Given the description of an element on the screen output the (x, y) to click on. 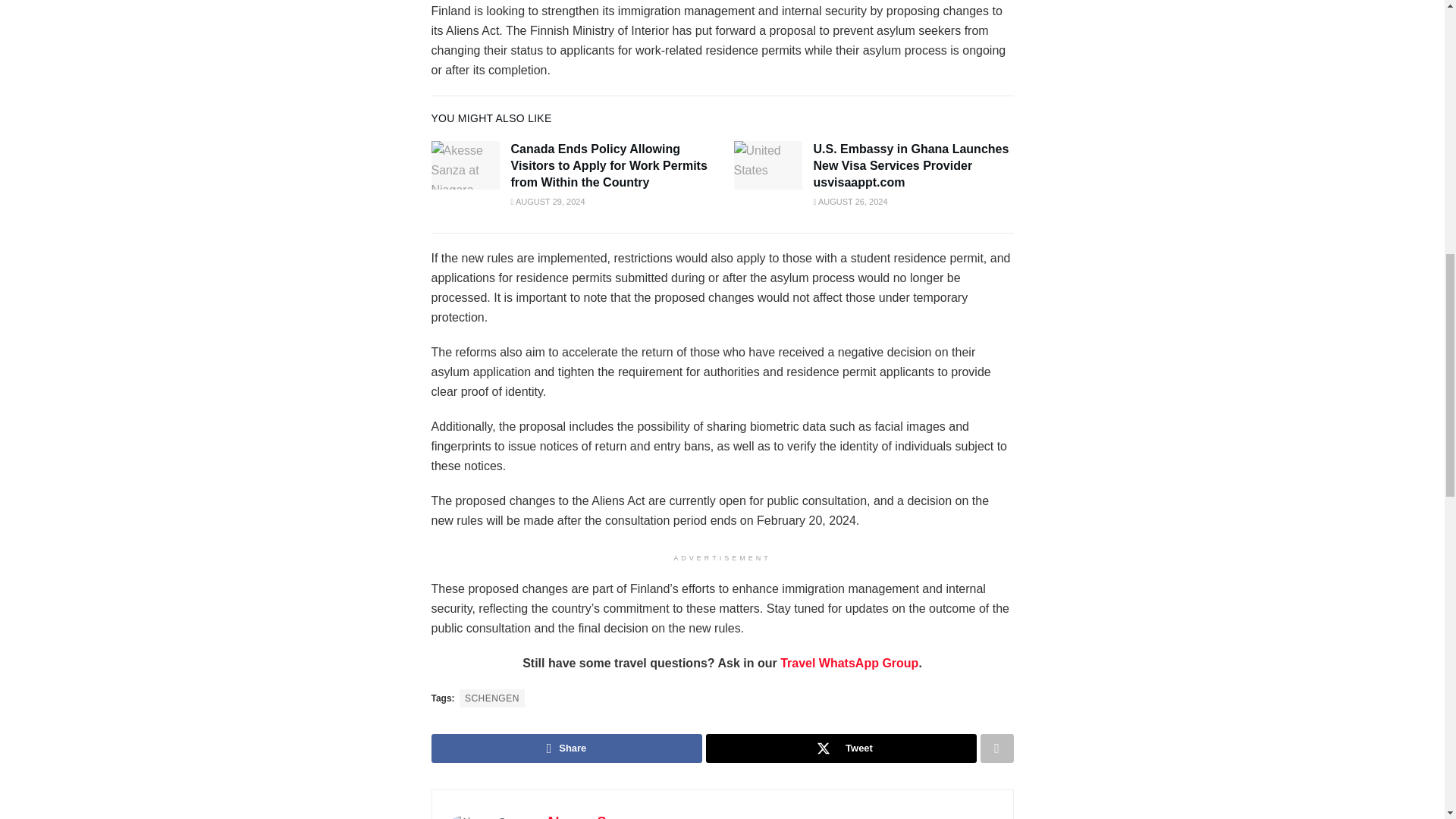
Akesse Sanza (591, 816)
AUGUST 26, 2024 (849, 201)
SCHENGEN (492, 698)
Tweet (839, 747)
Share (565, 747)
Travel WhatsApp Group (849, 662)
AUGUST 29, 2024 (548, 201)
